Given the description of an element on the screen output the (x, y) to click on. 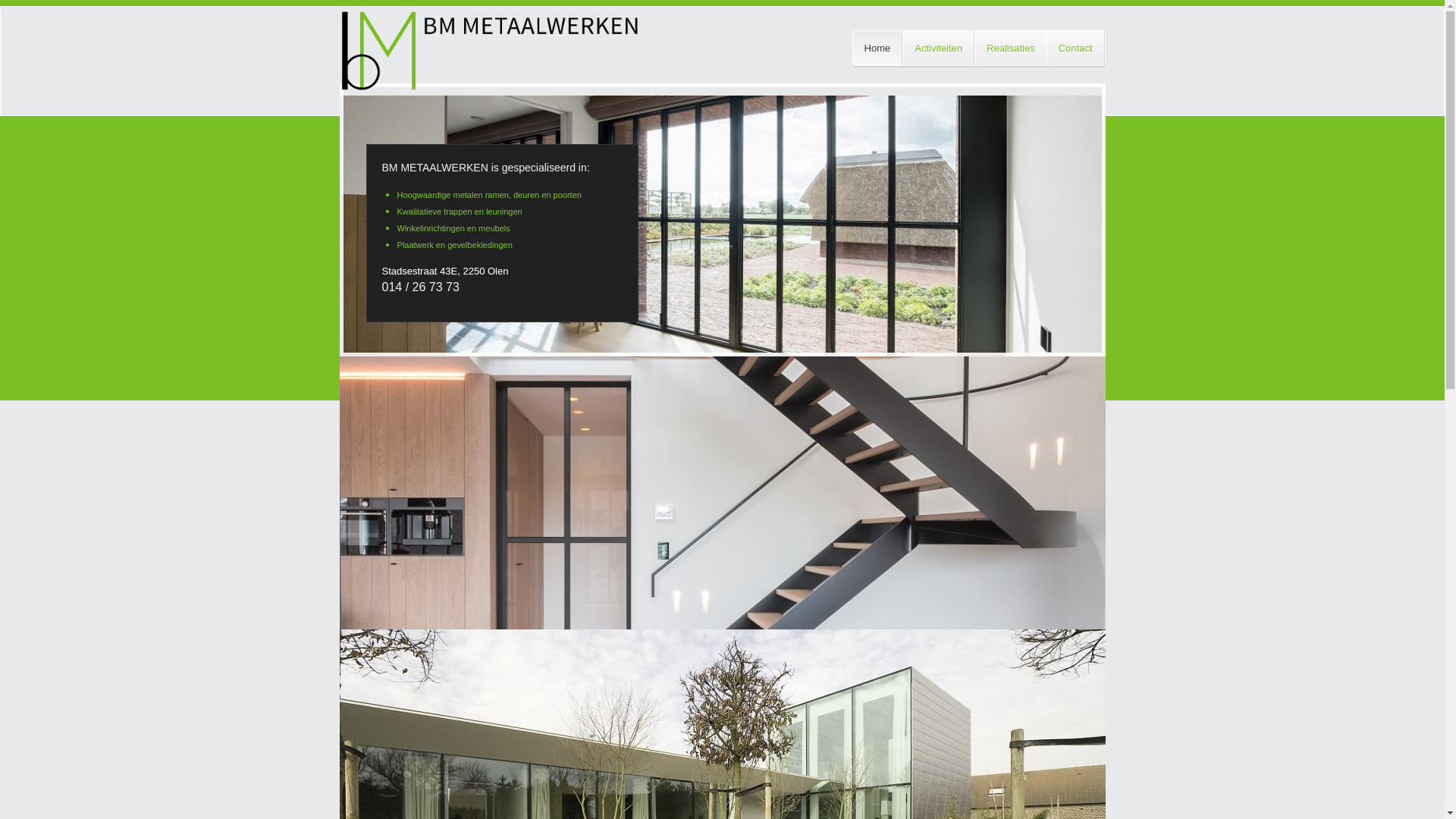
winkelinrichting en meubelen Element type: text (698, 502)
plaatwerk Element type: text (459, 518)
#caption-11756 Element type: hover (722, 231)
Realisaties Element type: text (1010, 48)
info@bmmetaal.be Element type: text (941, 727)
brandwerend schrijnwerk Element type: text (554, 518)
Contacteer ons voor meer informatie Element type: text (445, 582)
Home Element type: text (878, 48)
kwalitatieve trappen Element type: text (575, 502)
Contact Element type: text (1075, 48)
stalen ramen, deuren en poorten Element type: text (626, 494)
#caption-11757 Element type: hover (722, 492)
Activiteiten Element type: text (938, 48)
